Given the description of an element on the screen output the (x, y) to click on. 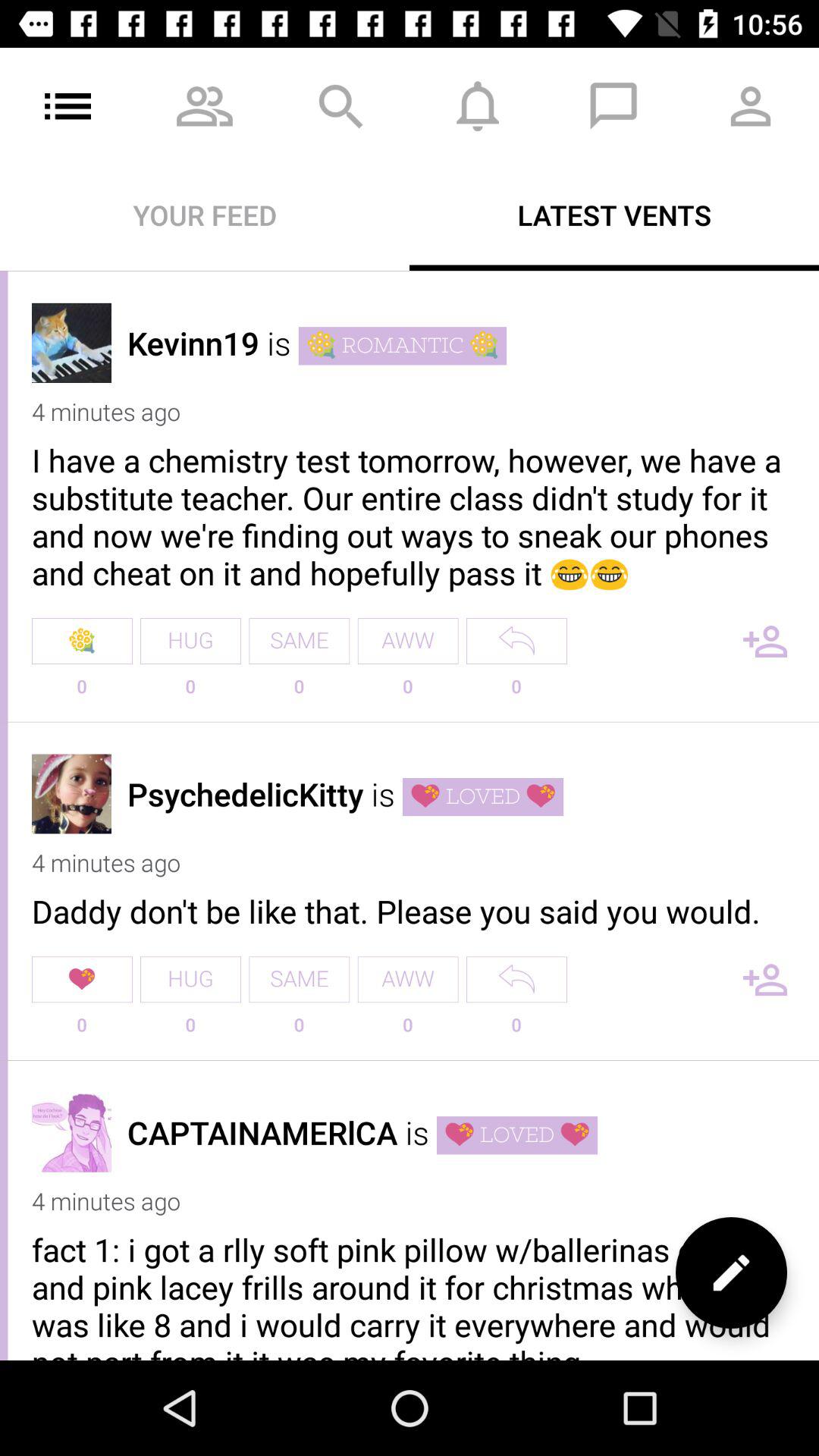
click for user profile (71, 342)
